Given the description of an element on the screen output the (x, y) to click on. 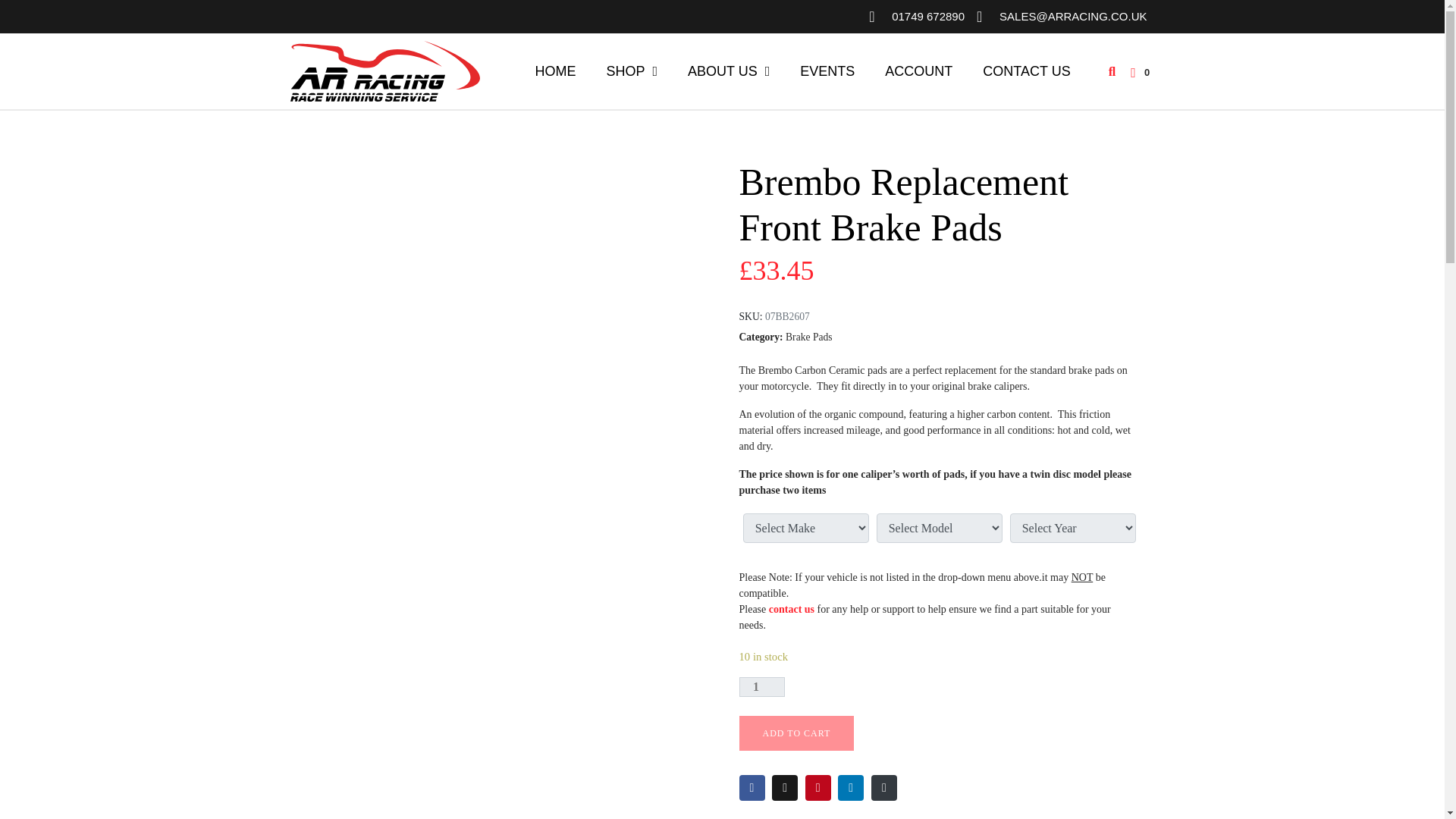
01749 672890 (916, 16)
HOME (555, 70)
SHOP (631, 70)
1 (761, 686)
